Given the description of an element on the screen output the (x, y) to click on. 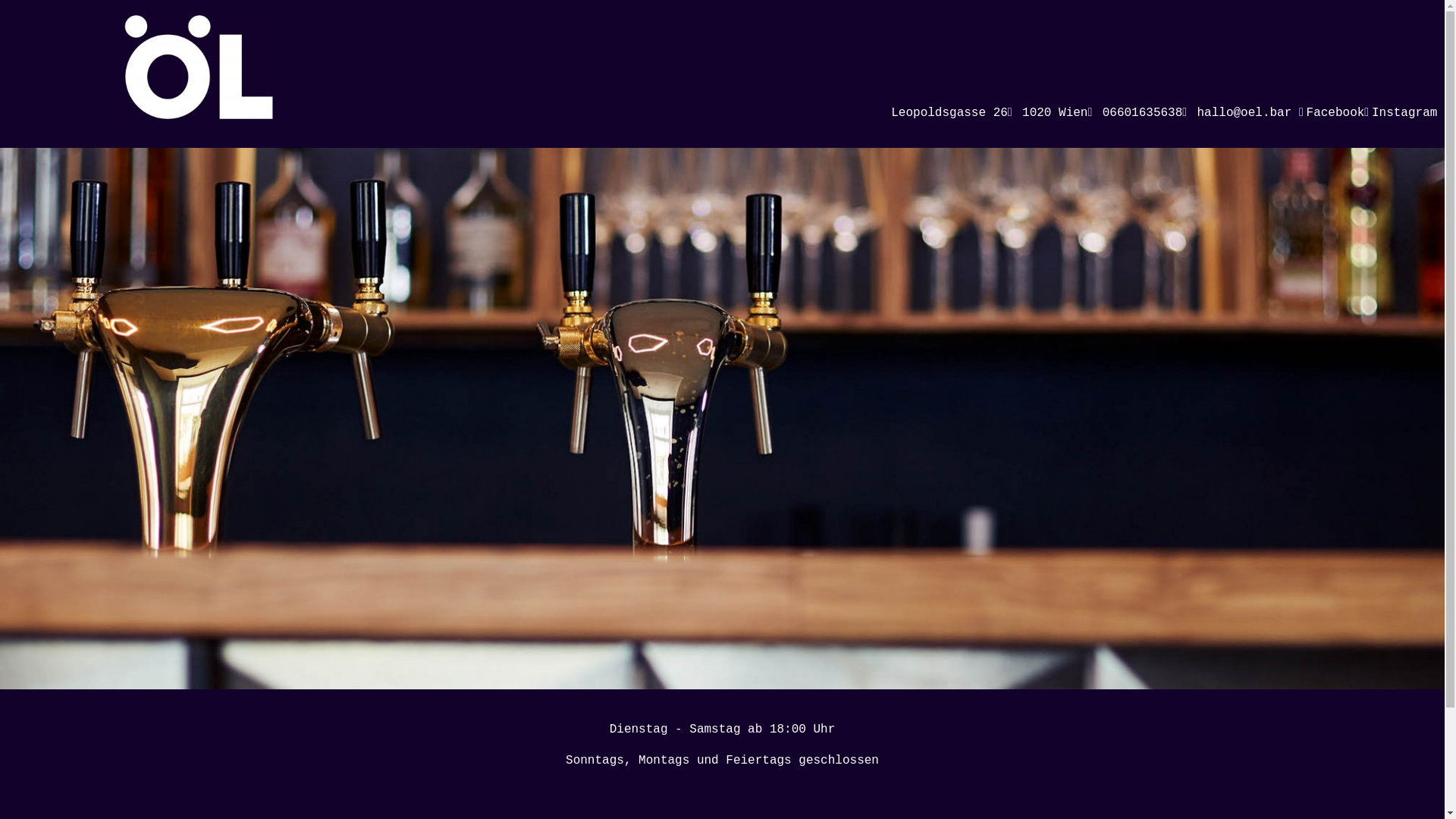
hallo@oel.bar Element type: text (1247, 112)
Instagram  Element type: text (1407, 112)
